Given the description of an element on the screen output the (x, y) to click on. 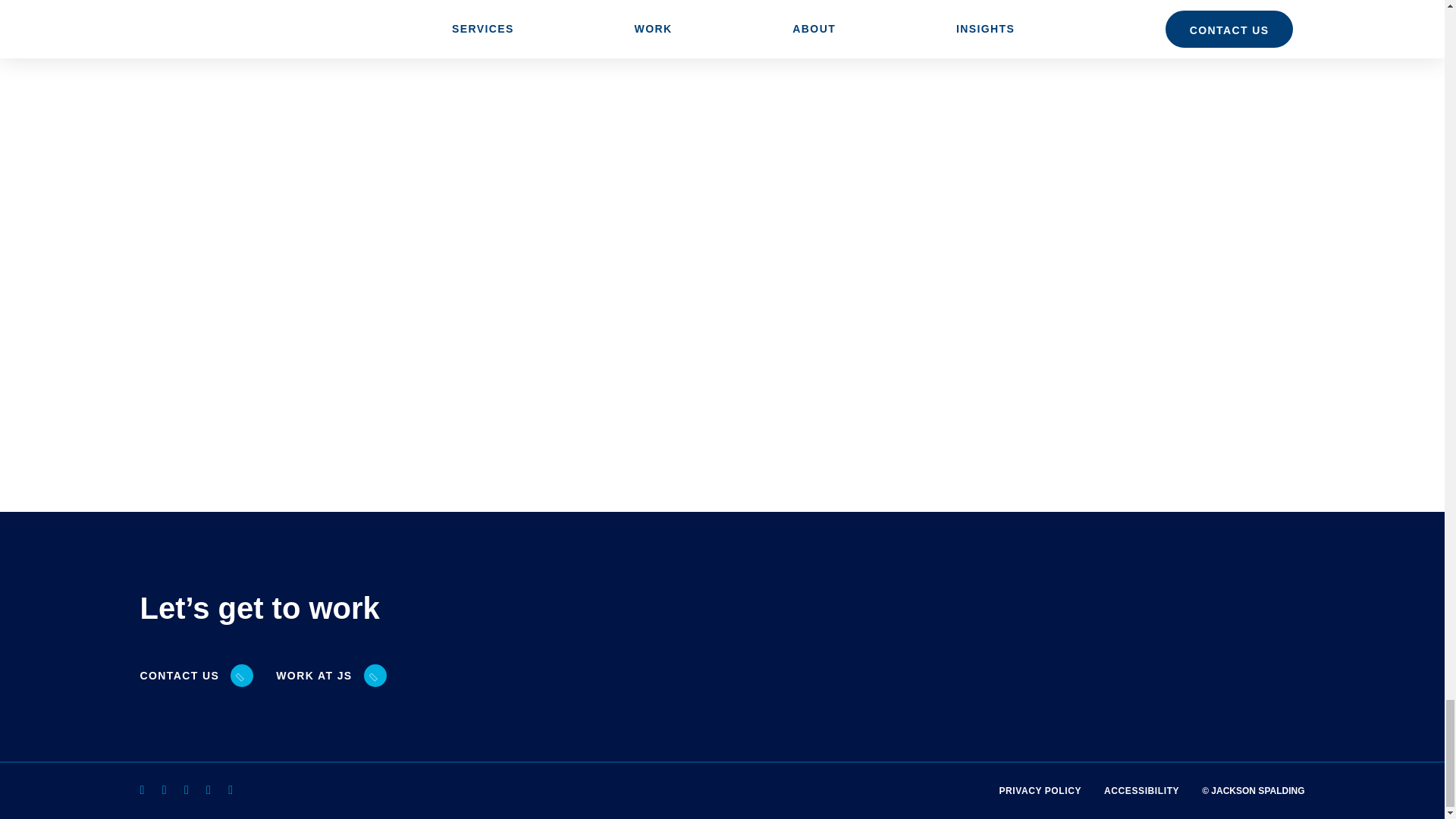
CONTACT US (184, 675)
Contact Us (184, 675)
Privacy Policy (1039, 790)
Work at JS (319, 675)
WORK AT JS (319, 675)
Accessibility (1141, 790)
ACCESSIBILITY (1141, 790)
PRIVACY POLICY (1039, 790)
